Given the description of an element on the screen output the (x, y) to click on. 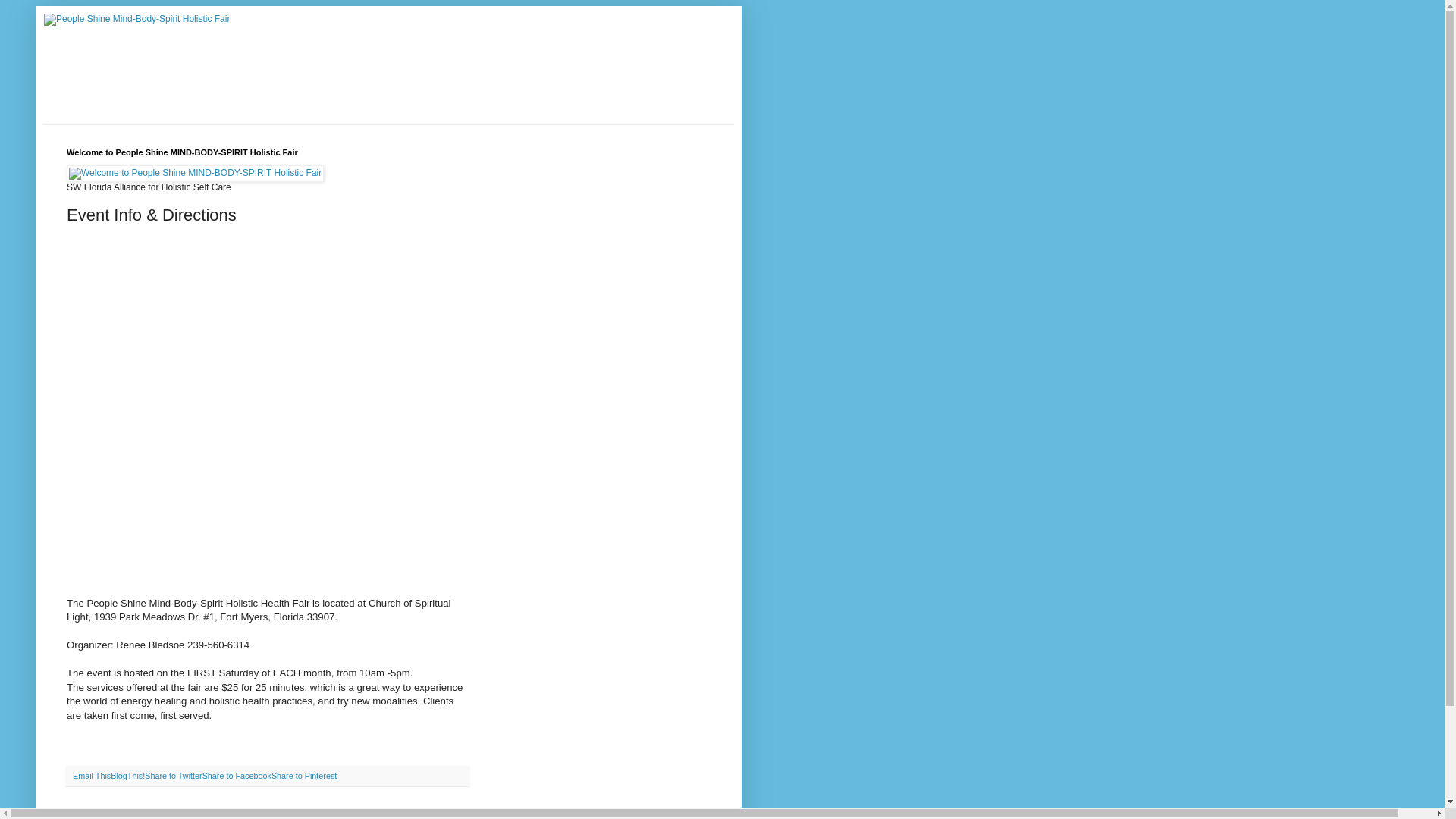
Home (82, 810)
Email This (91, 775)
BlogThis! (127, 775)
Share to Facebook (236, 775)
Share to Facebook (236, 775)
Email This (91, 775)
Share to Pinterest (303, 775)
BlogThis! (127, 775)
Share to Twitter (173, 775)
Share to Pinterest (303, 775)
Share to Twitter (173, 775)
